Given the description of an element on the screen output the (x, y) to click on. 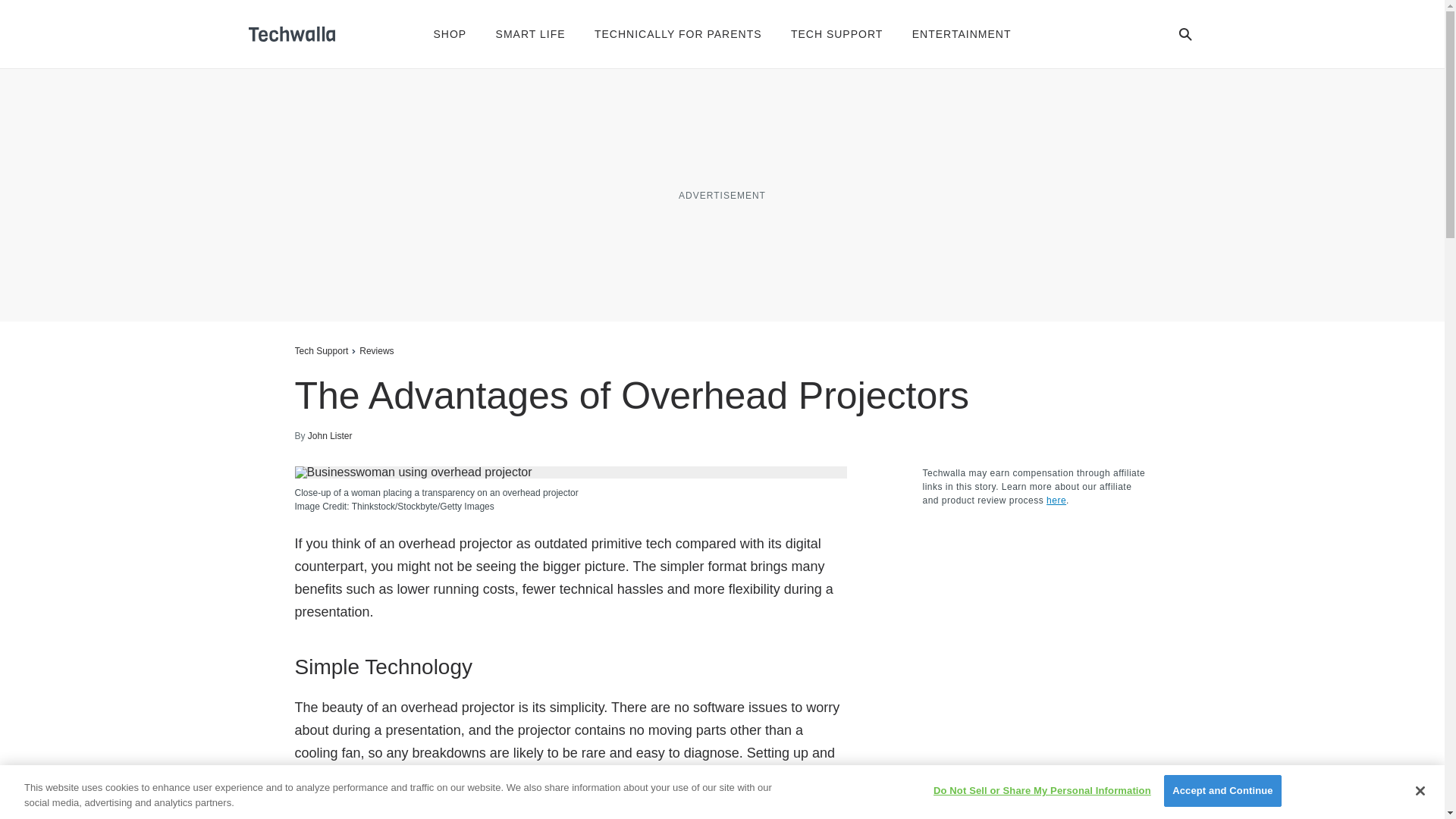
here (1055, 500)
Tech Support (320, 350)
Reviews (376, 350)
Learn more about our affiliate and product review process (1055, 500)
